Given the description of an element on the screen output the (x, y) to click on. 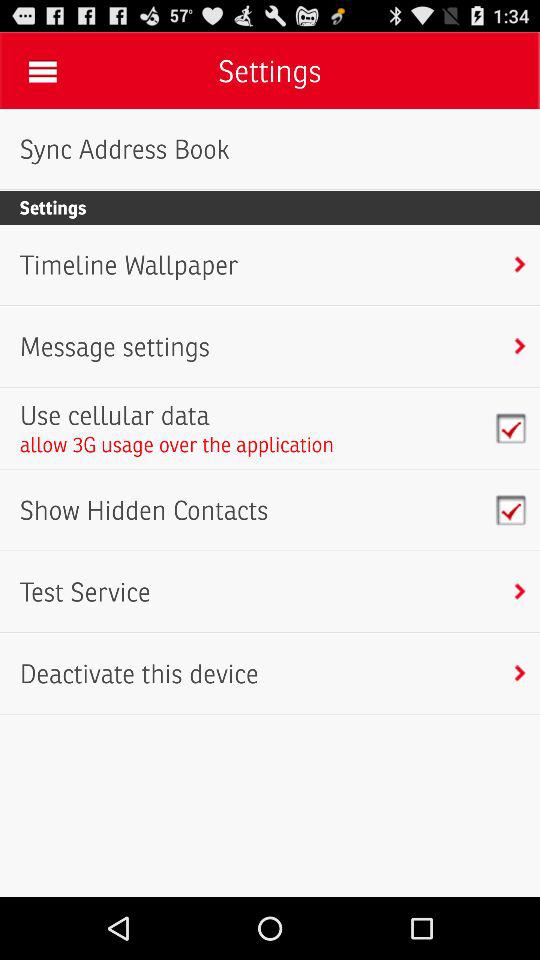
press the app above the allow 3g usage app (176, 415)
